Given the description of an element on the screen output the (x, y) to click on. 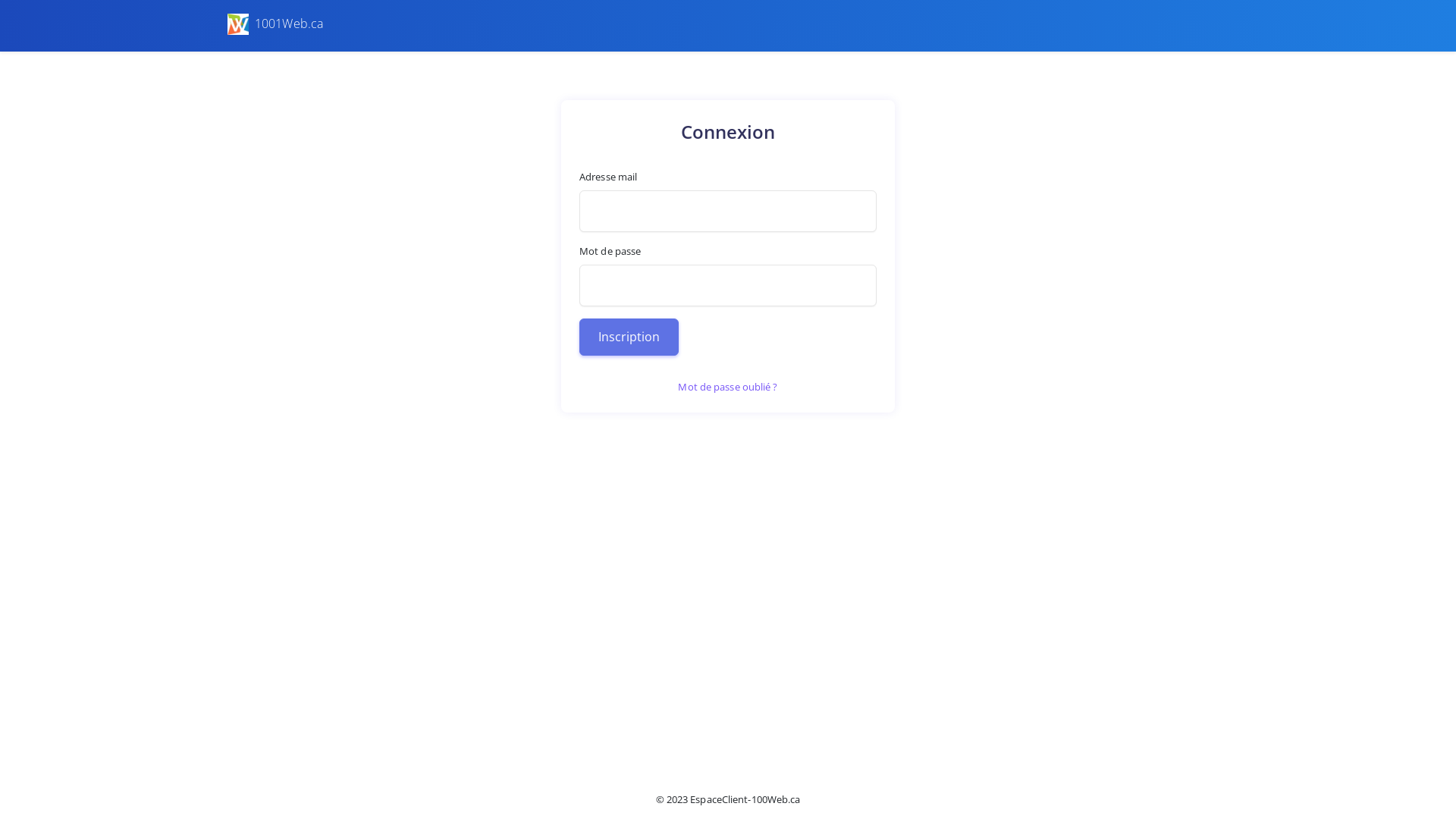
Inscription Element type: text (628, 337)
1001Web.ca Element type: text (329, 23)
